Given the description of an element on the screen output the (x, y) to click on. 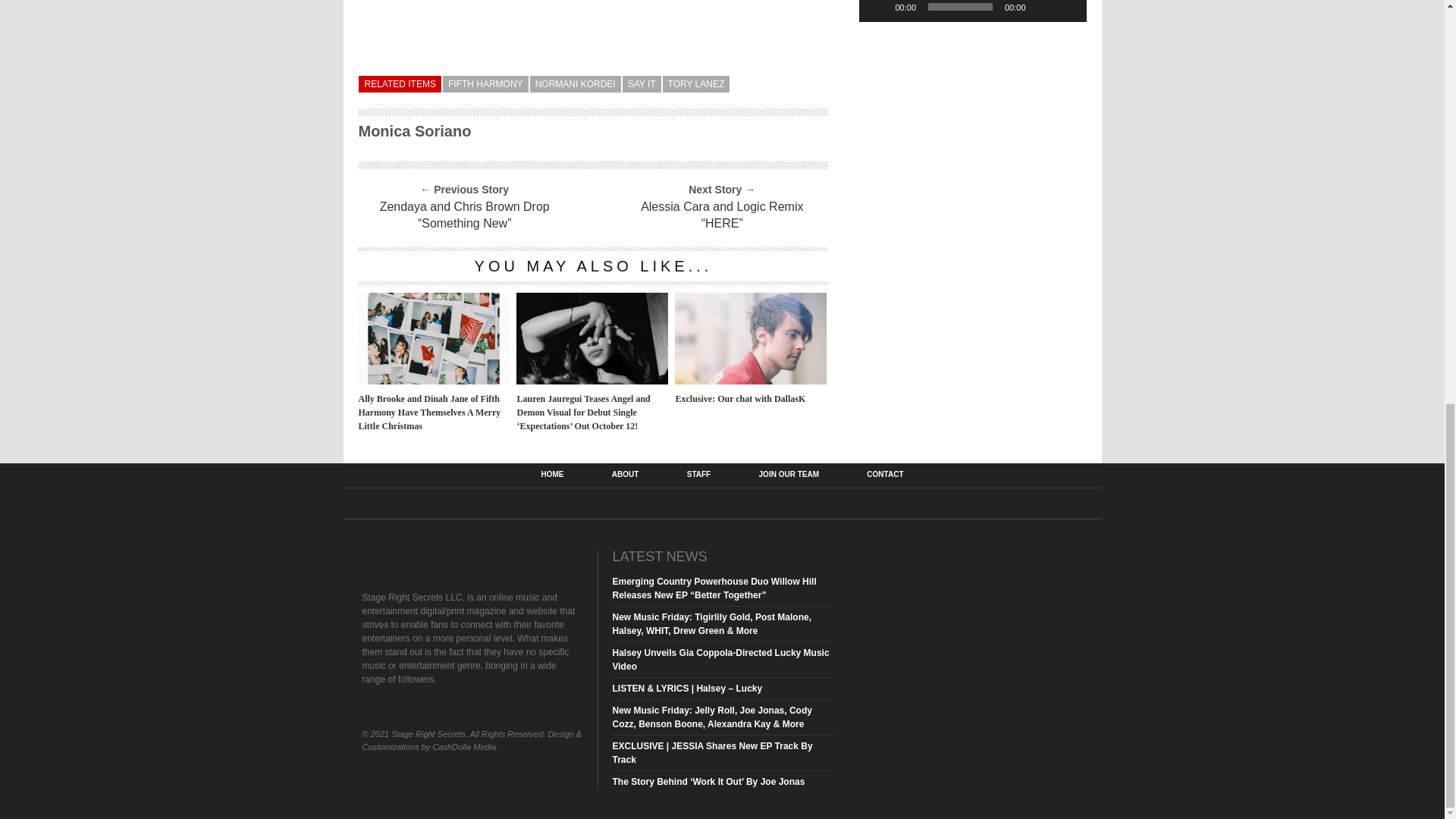
Play (877, 7)
Posts by Monica Soriano (414, 130)
Mute (1041, 7)
Exclusive: Our chat with DallasK (751, 379)
Fullscreen (1066, 7)
